Given the description of an element on the screen output the (x, y) to click on. 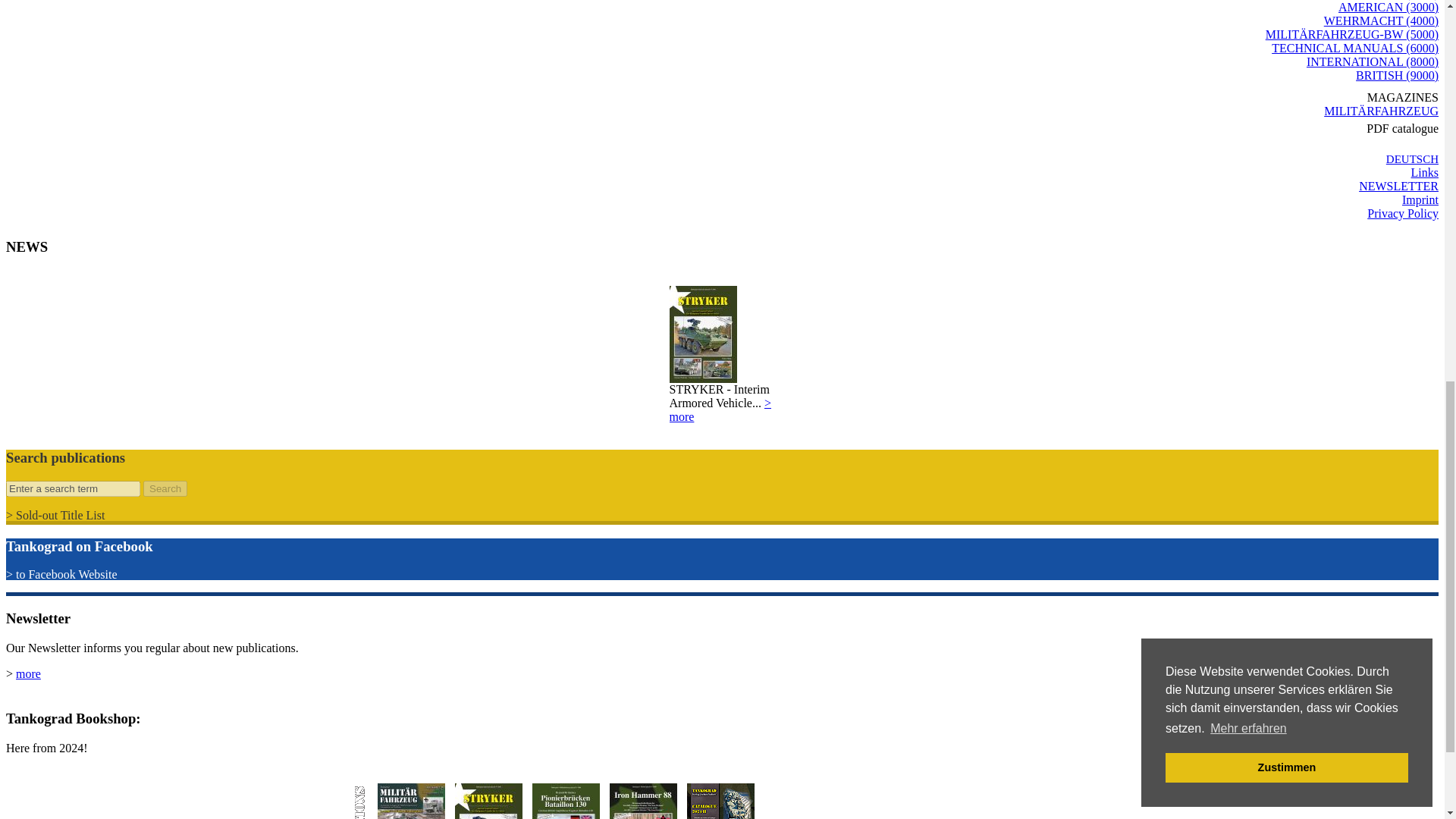
Catalogue 2020 (720, 800)
Enter a search term (72, 488)
Search (164, 488)
